Given the description of an element on the screen output the (x, y) to click on. 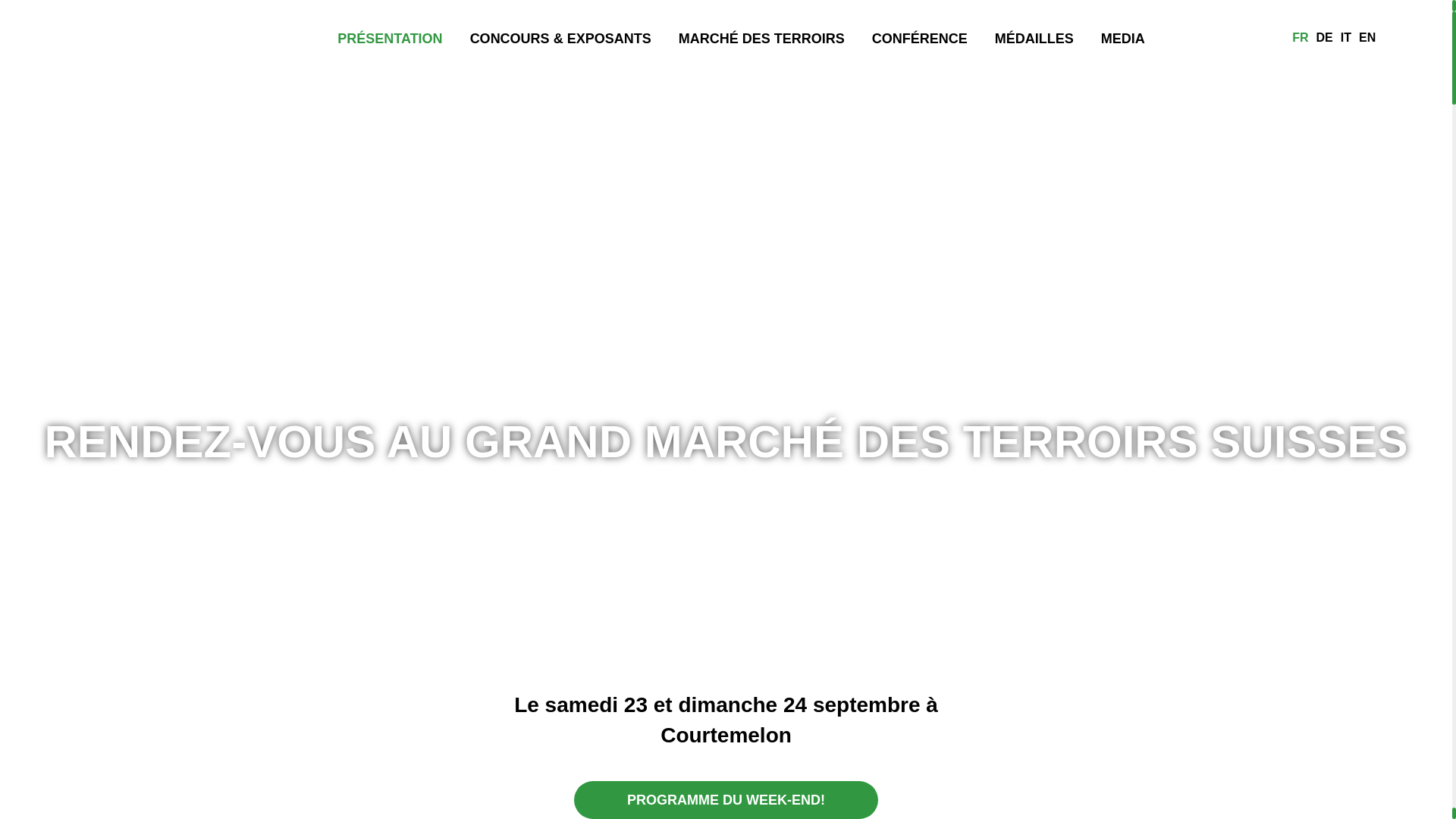
IT Element type: text (1345, 37)
DE Element type: text (1324, 37)
WebMaker 5.0 Demo Element type: text (148, 108)
MEDIA Element type: text (1122, 37)
EN Element type: text (1367, 37)
CONCOURS & EXPOSANTS Element type: text (560, 37)
